Given the description of an element on the screen output the (x, y) to click on. 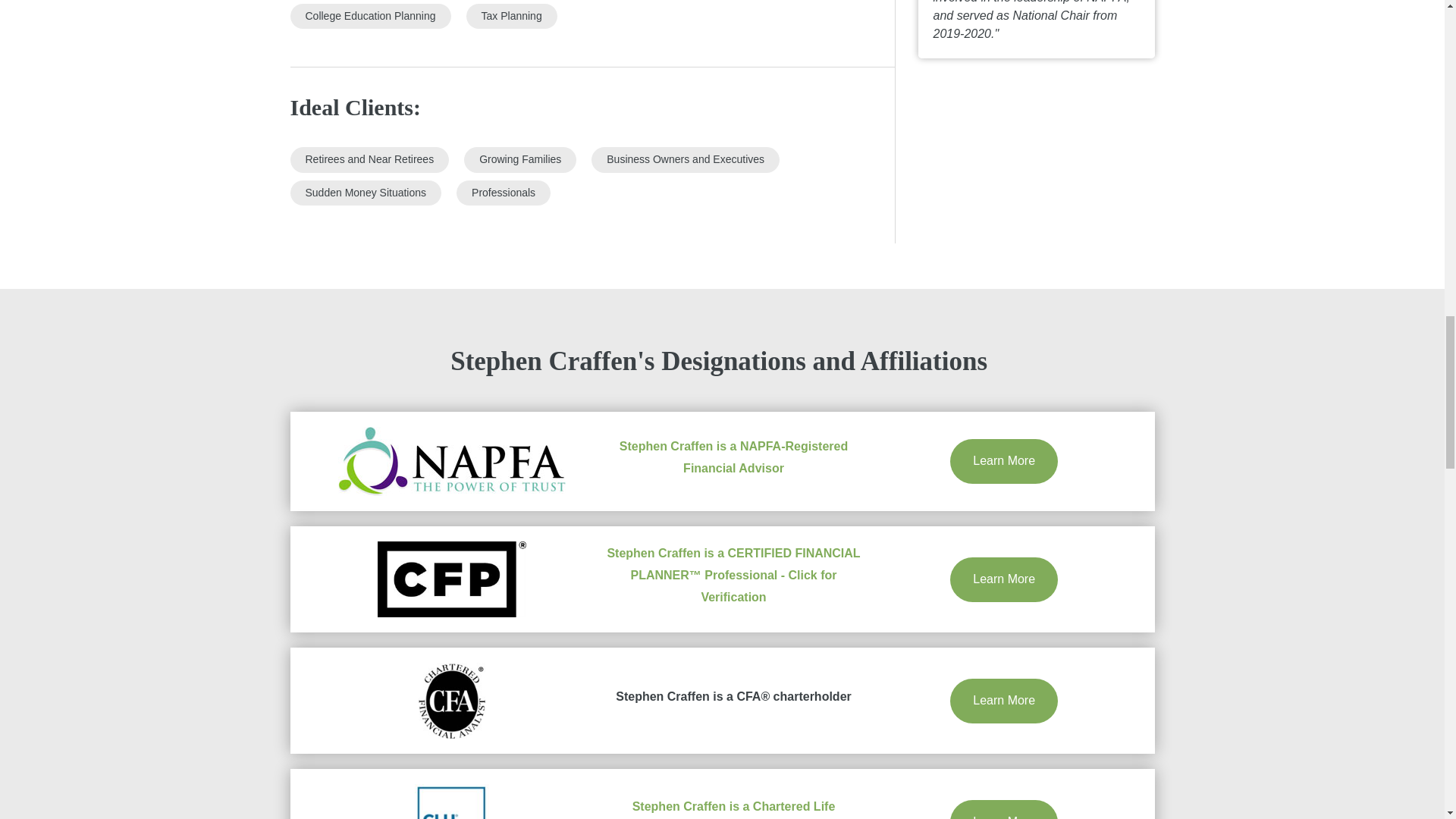
Stephen Craffen is a NAPFA-Registered Financial Advisor (733, 457)
